Given the description of an element on the screen output the (x, y) to click on. 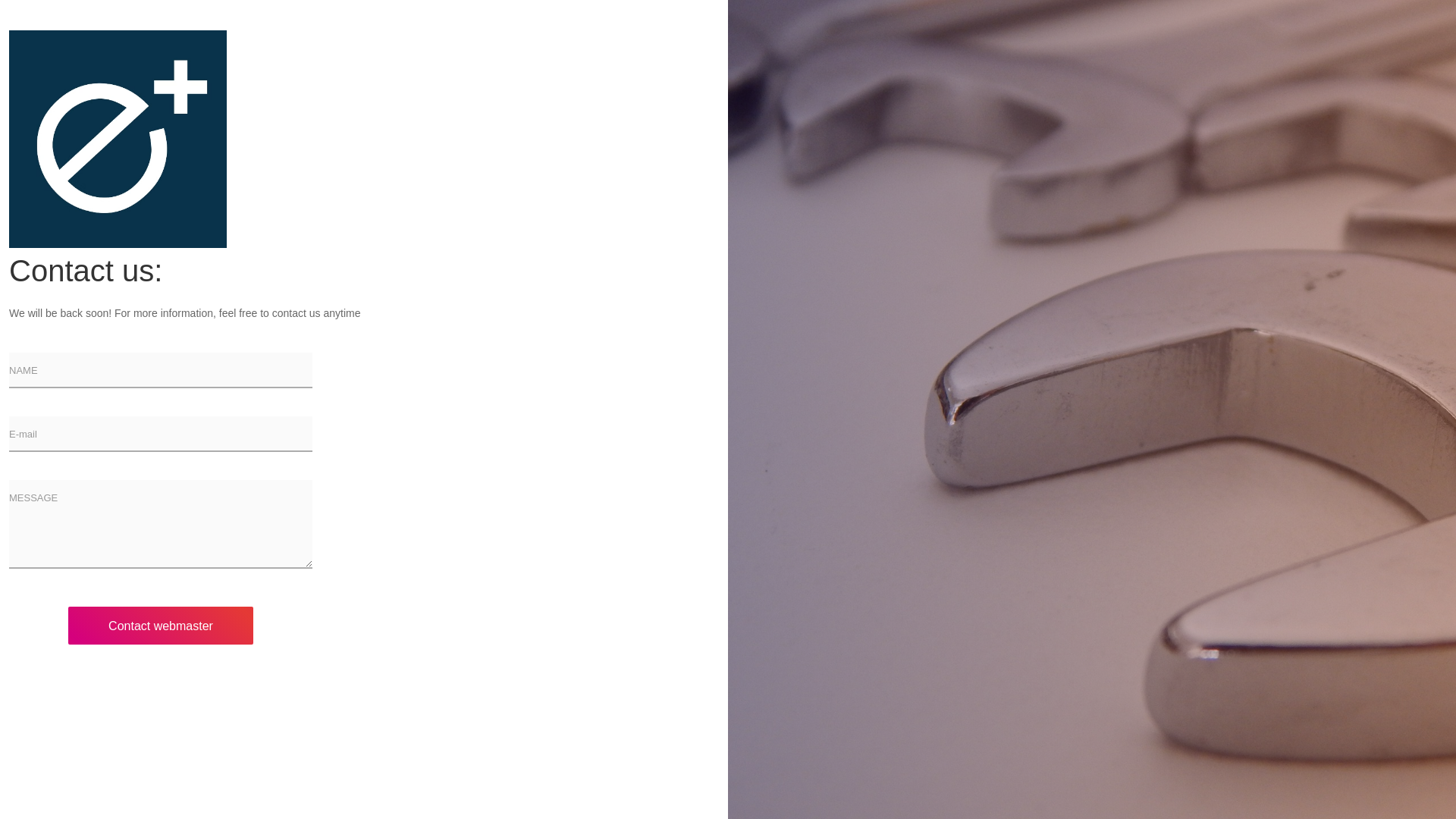
Contact webmaster (160, 625)
